Given the description of an element on the screen output the (x, y) to click on. 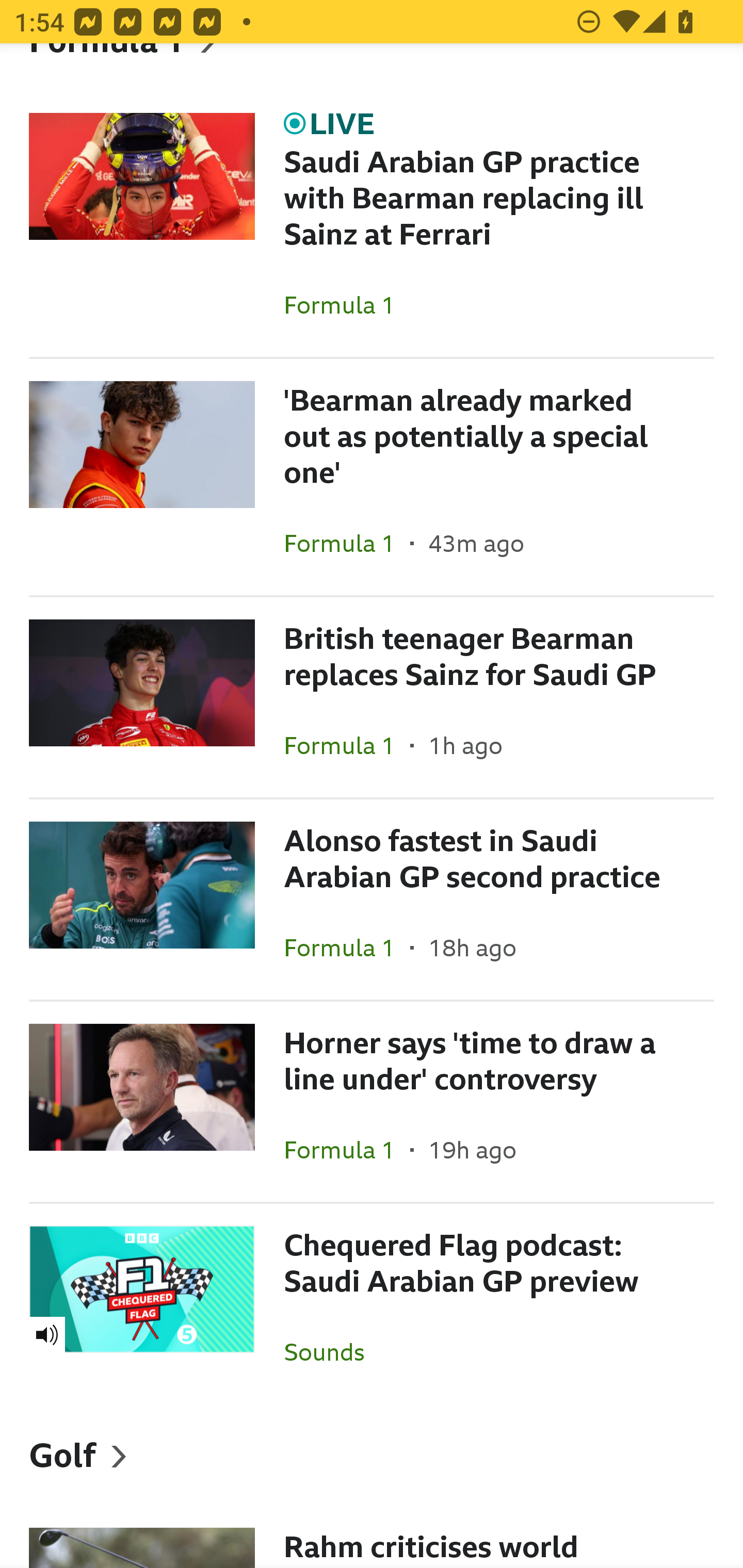
Sounds In the section Sounds (330, 1351)
Golf, Heading Golf    (371, 1454)
